Given the description of an element on the screen output the (x, y) to click on. 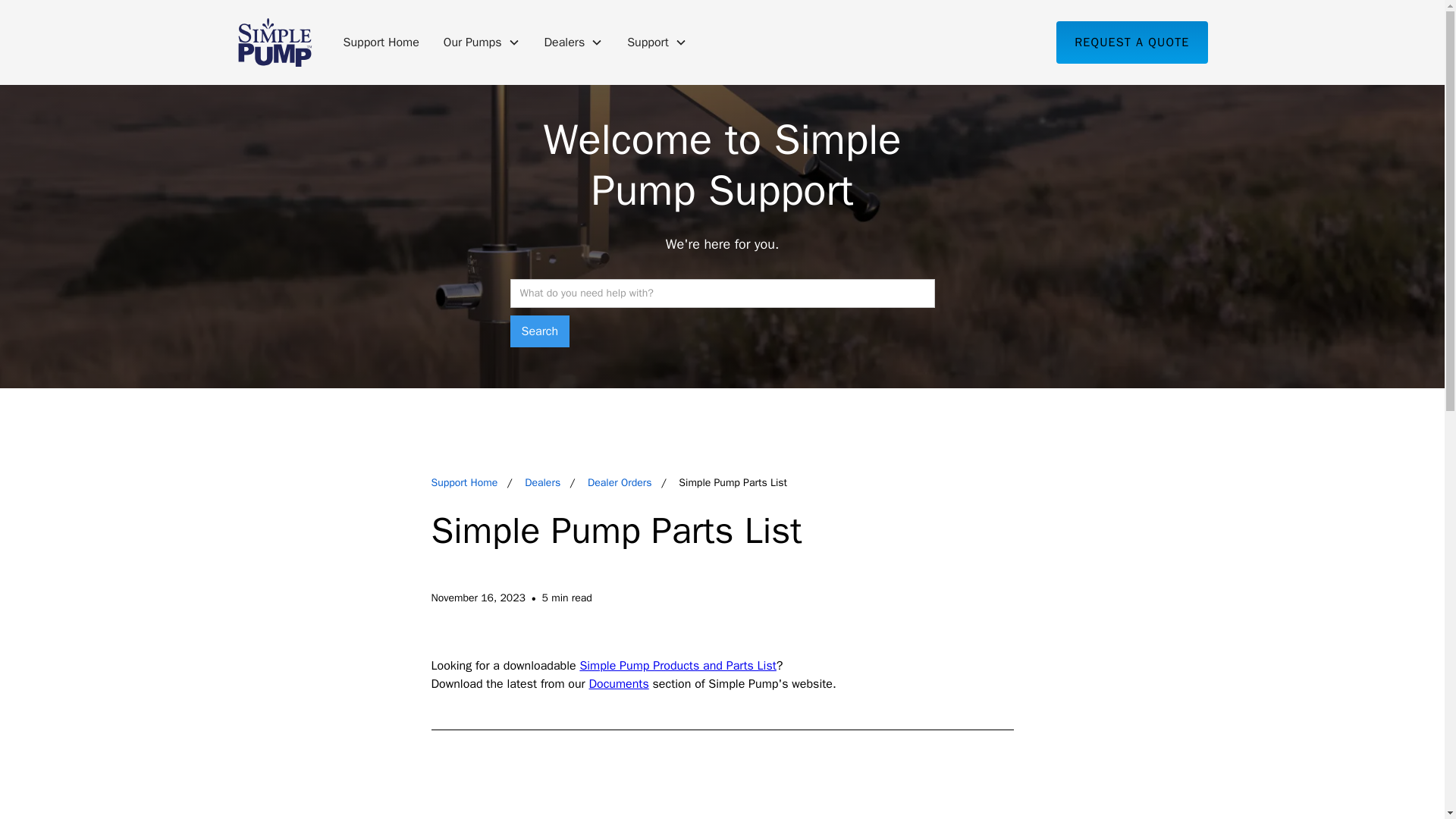
Dealers (542, 481)
REQUEST A QUOTE (1132, 42)
Documents (617, 683)
Support Home (380, 42)
Support Home (463, 481)
Search (539, 331)
Search (539, 331)
Simple Pump Products and Parts List (677, 665)
Dealer Orders (619, 481)
